Given the description of an element on the screen output the (x, y) to click on. 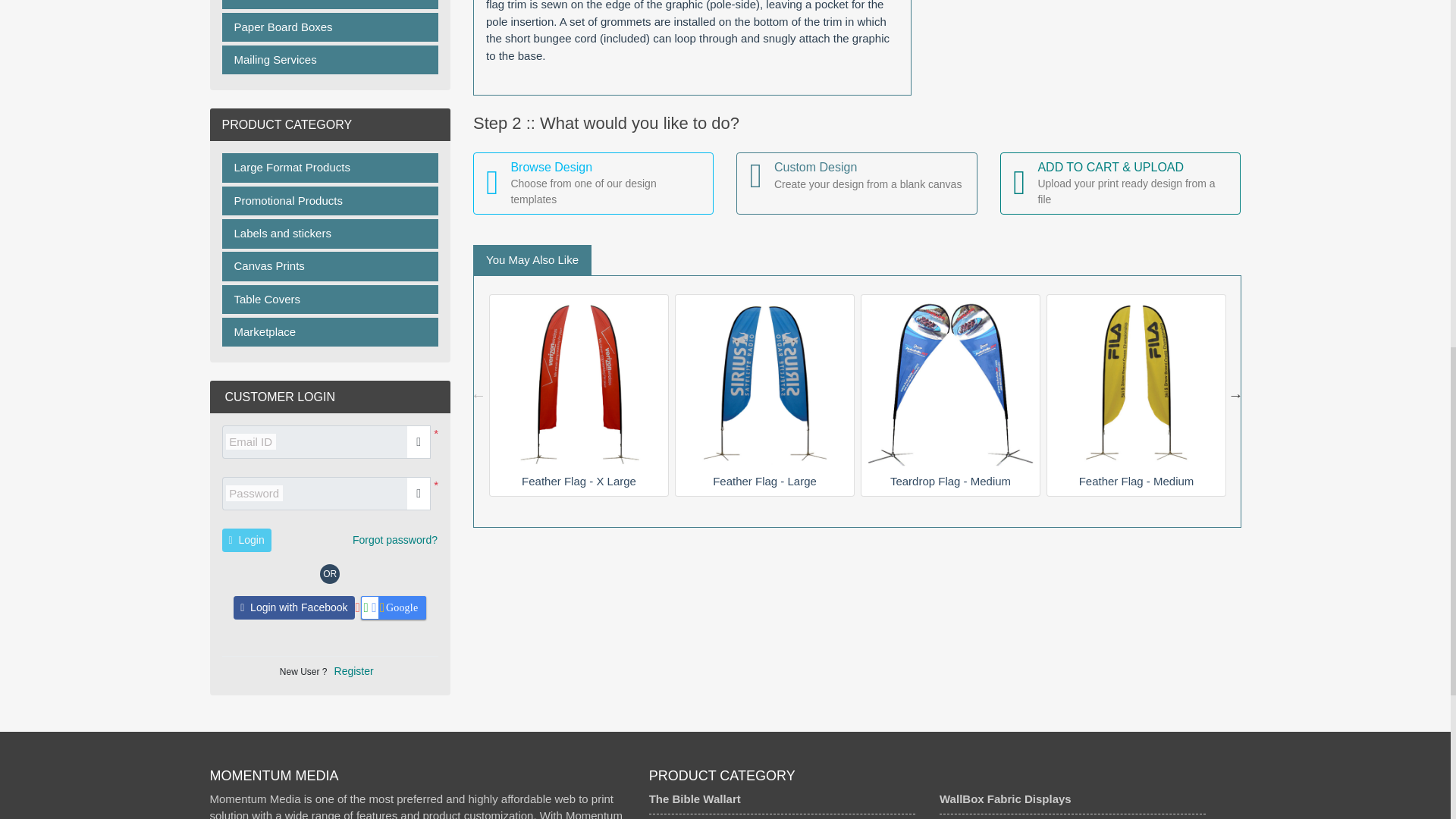
Feather Flag - Medium (1136, 383)
Feather Flag - X Large (579, 383)
Teardrop Flag - Medium (950, 383)
Feather Flag - Large (764, 383)
